Given the description of an element on the screen output the (x, y) to click on. 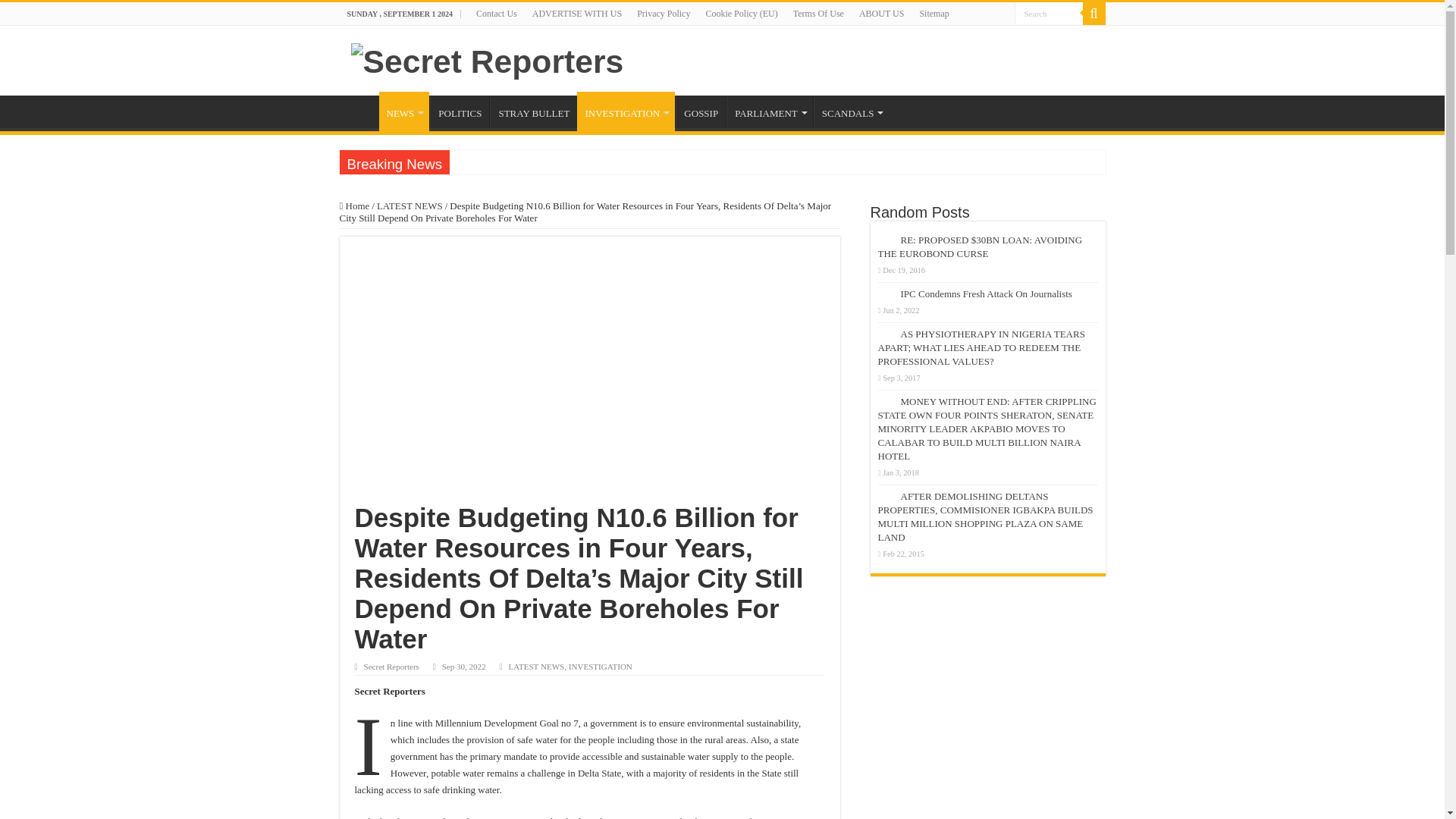
Search (1094, 13)
SCANDALS (851, 111)
Search (1048, 13)
POLITICS (459, 111)
Contact Us (496, 13)
PARLIAMENT (769, 111)
GOSSIP (700, 111)
Search (1048, 13)
INVESTIGATION (625, 111)
Secret Reporters (486, 58)
